Given the description of an element on the screen output the (x, y) to click on. 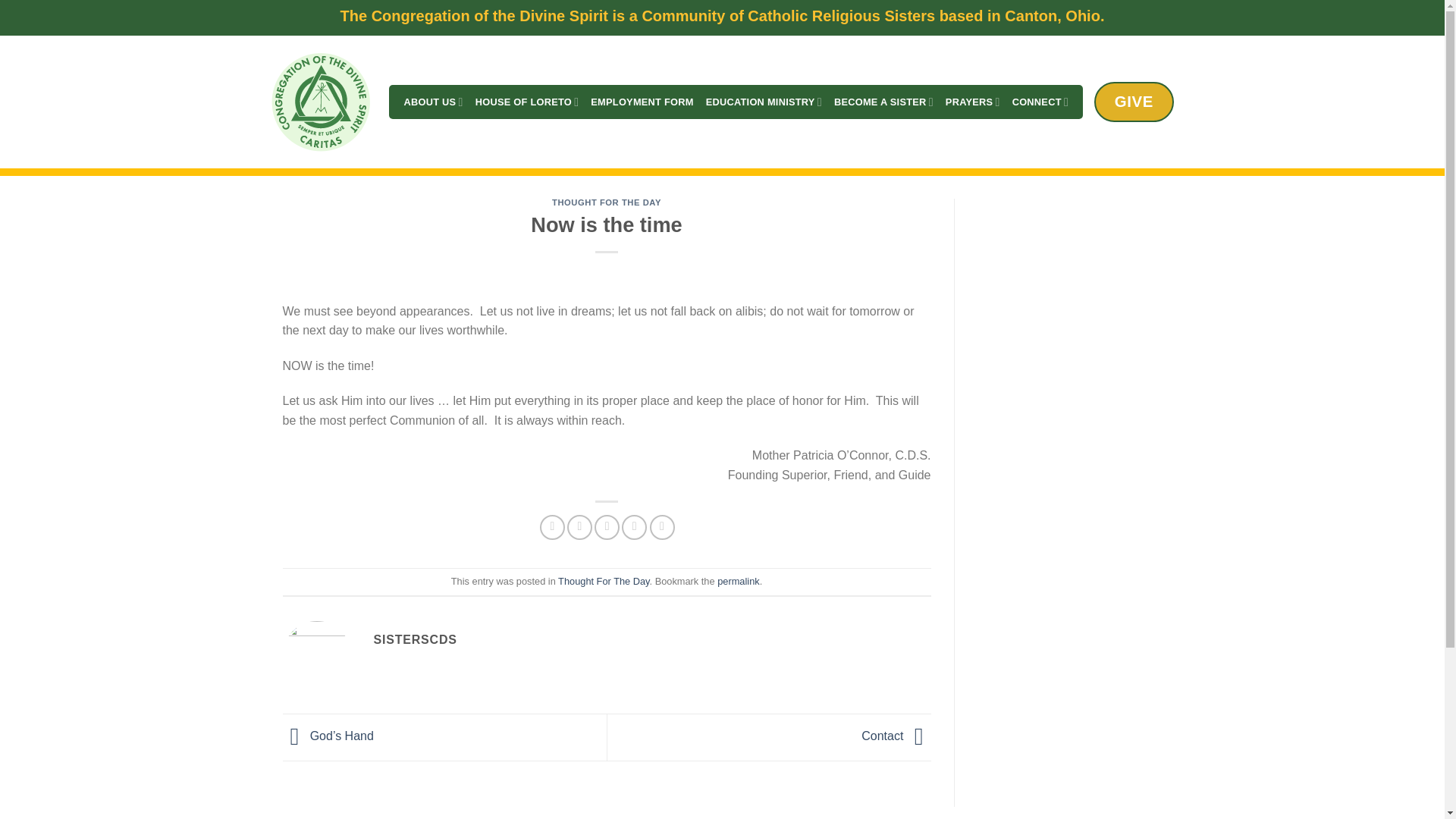
Permalink to Now is the time (737, 581)
GIVE (1133, 101)
Share on Twitter (579, 527)
PRAYERS (972, 101)
EDUCATION MINISTRY (764, 101)
Pin on Pinterest (633, 527)
CONNECT (1039, 101)
Share on LinkedIn (662, 527)
ABOUT US (433, 101)
Share on Facebook (552, 527)
HOUSE OF LORETO (527, 101)
EMPLOYMENT FORM (642, 101)
BECOME A SISTER (883, 101)
Email to a Friend (607, 527)
